Given the description of an element on the screen output the (x, y) to click on. 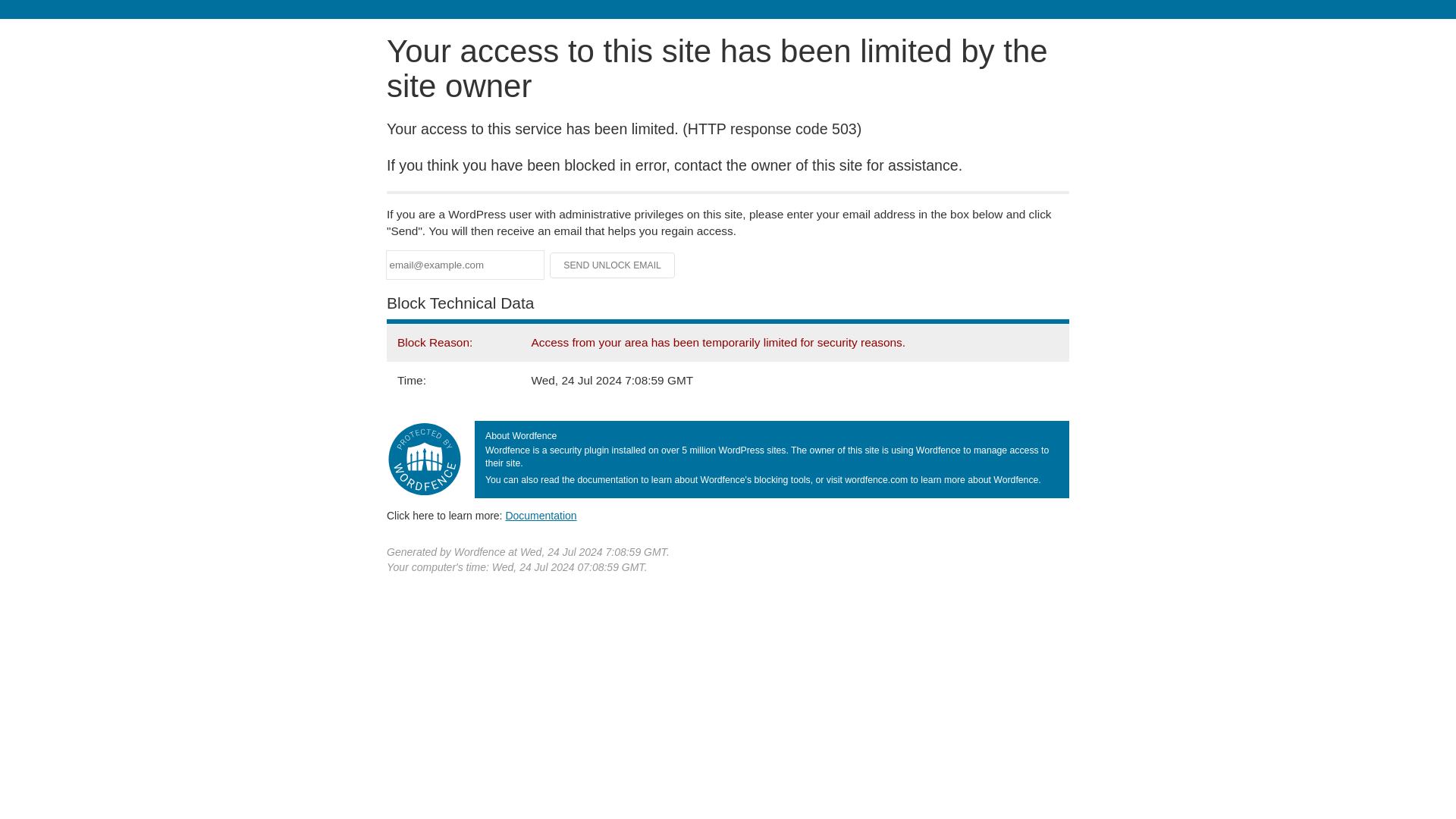
Documentation (540, 515)
Send Unlock Email (612, 265)
Send Unlock Email (612, 265)
